Given the description of an element on the screen output the (x, y) to click on. 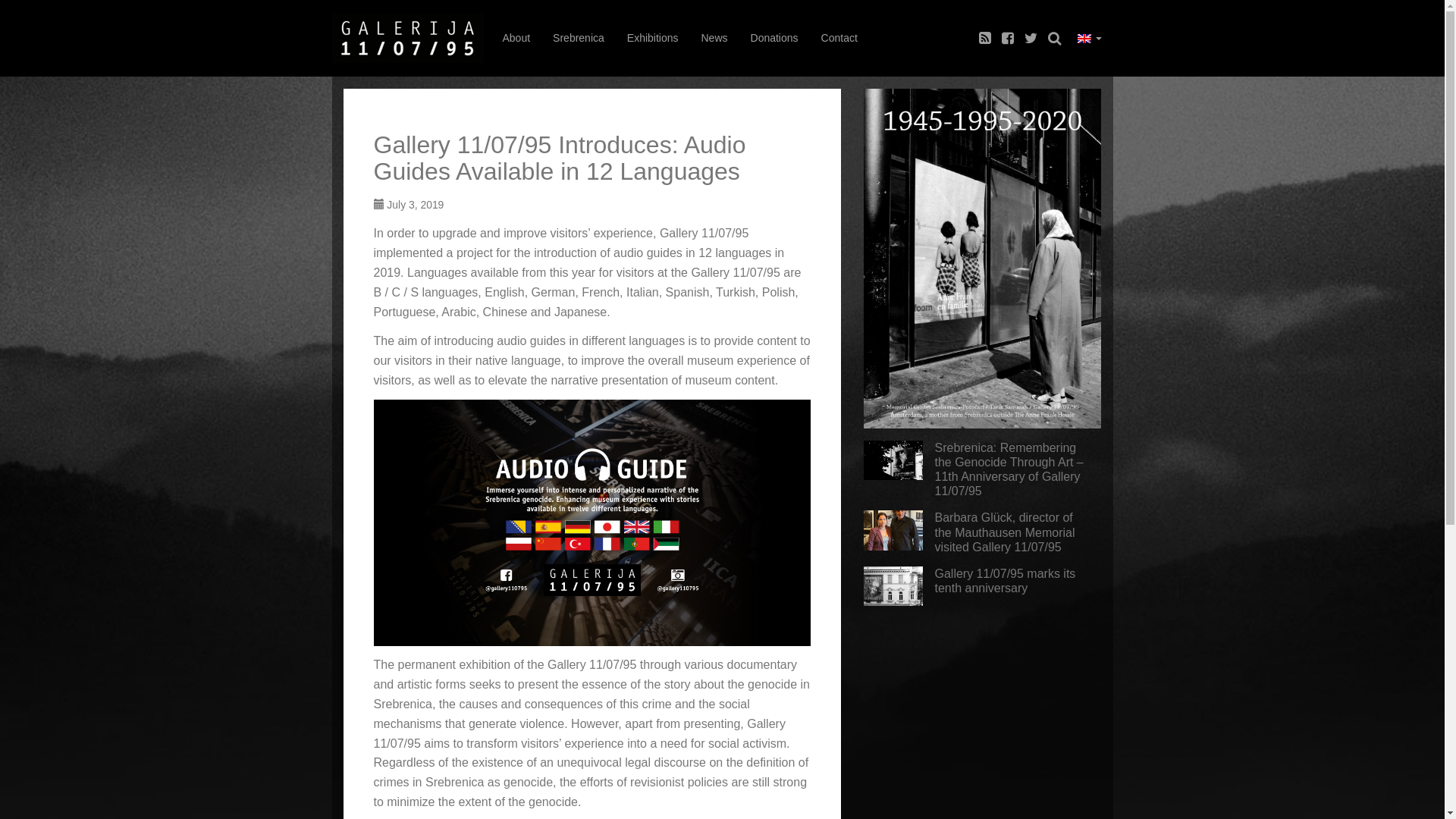
News Element type: text (714, 37)
rss Element type: hover (984, 37)
faktograf.hr Element type: hover (407, 37)
Contact Element type: text (839, 37)
Srebrenica Element type: text (578, 37)
facebook Element type: hover (1007, 37)
Donations Element type: text (774, 37)
About Element type: text (516, 37)
twitter Element type: hover (1030, 37)
search Element type: hover (1054, 37)
Exhibitions Element type: text (652, 37)
